Given the description of an element on the screen output the (x, y) to click on. 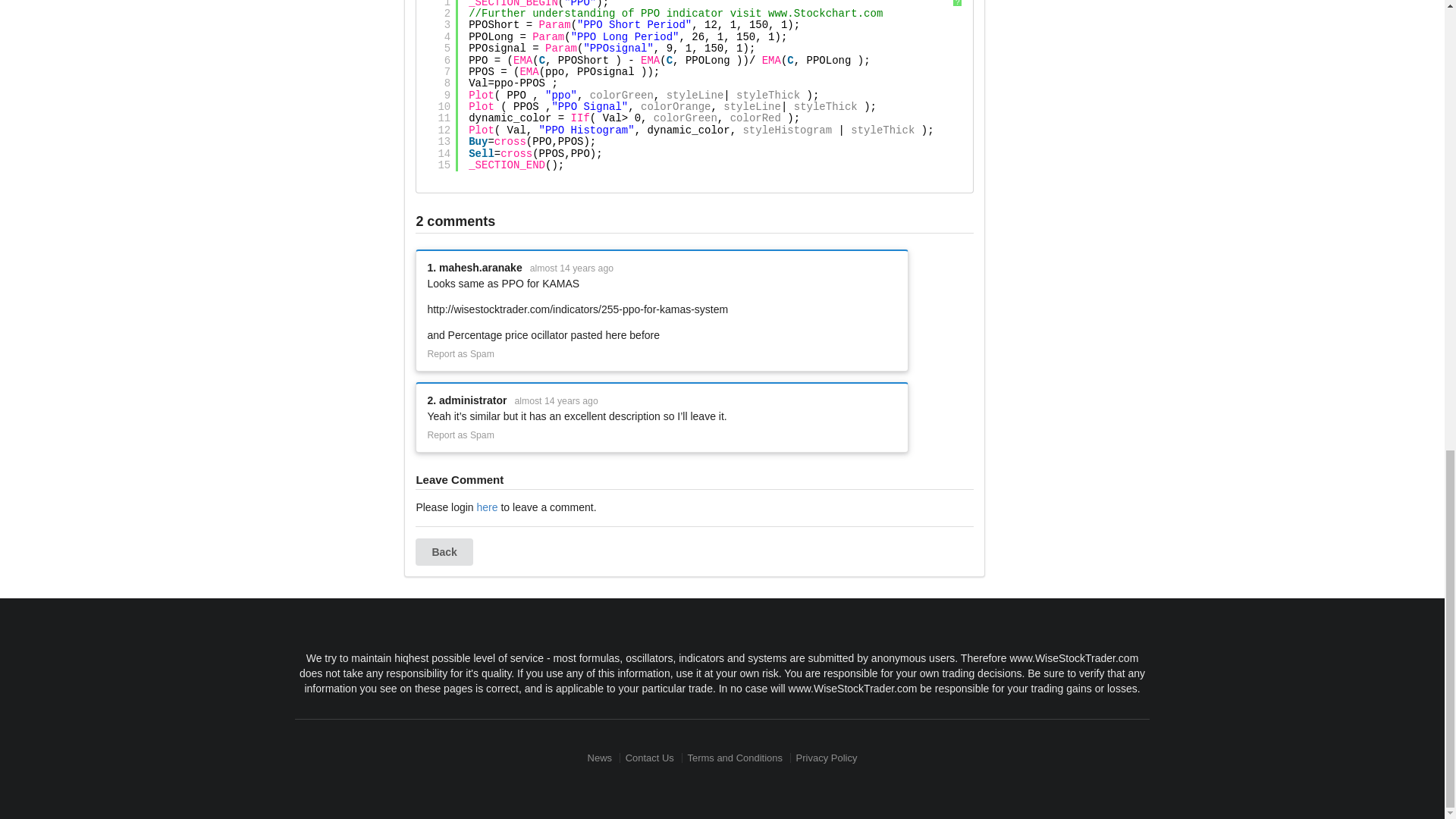
here (487, 507)
Report as Spam (460, 435)
Contact Us (649, 757)
News (602, 757)
administrator (472, 399)
Report as Spam (460, 354)
? (956, 3)
Back (442, 551)
mahesh.aranake (480, 267)
